Given the description of an element on the screen output the (x, y) to click on. 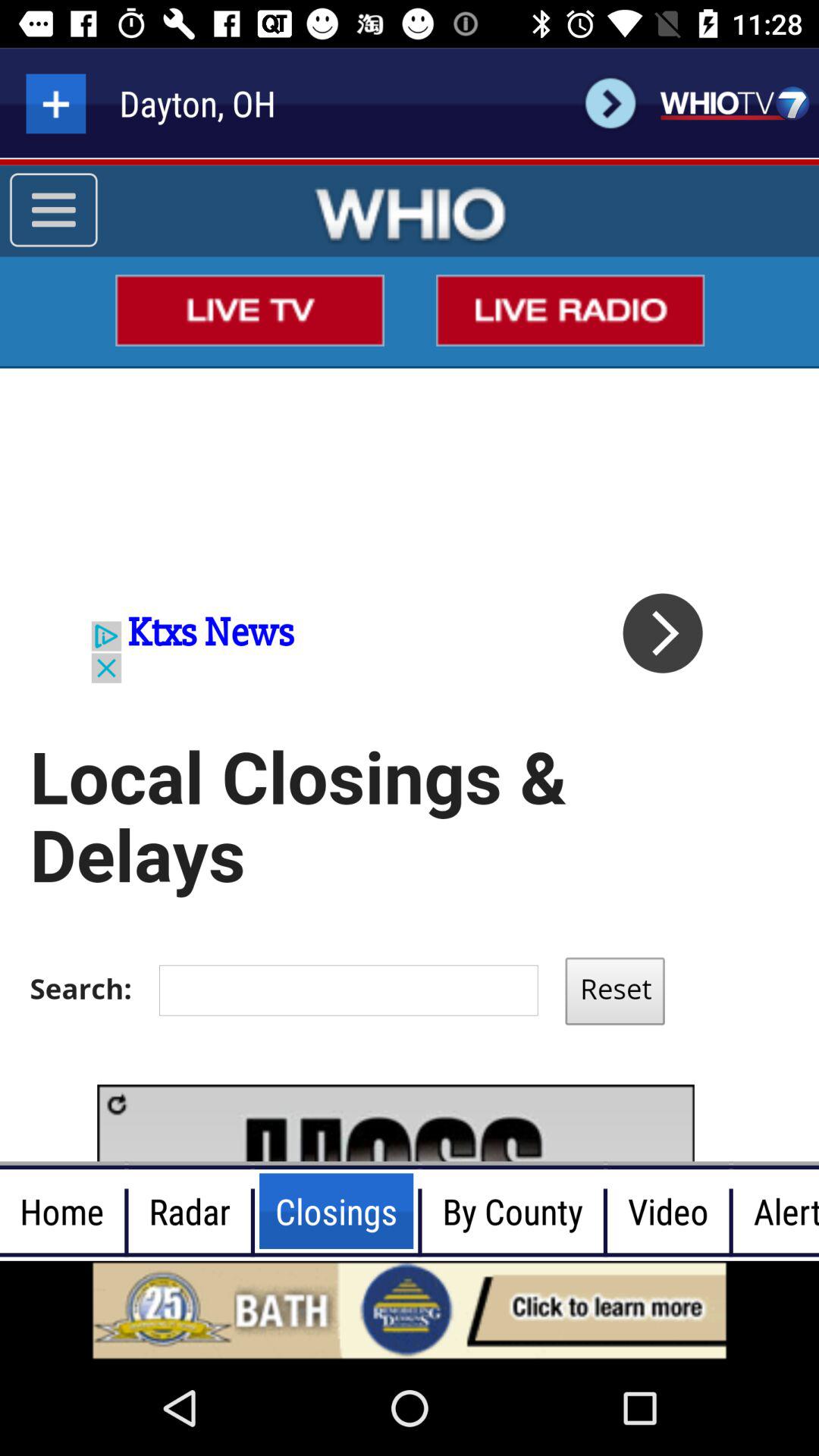
add banner (409, 1310)
